Given the description of an element on the screen output the (x, y) to click on. 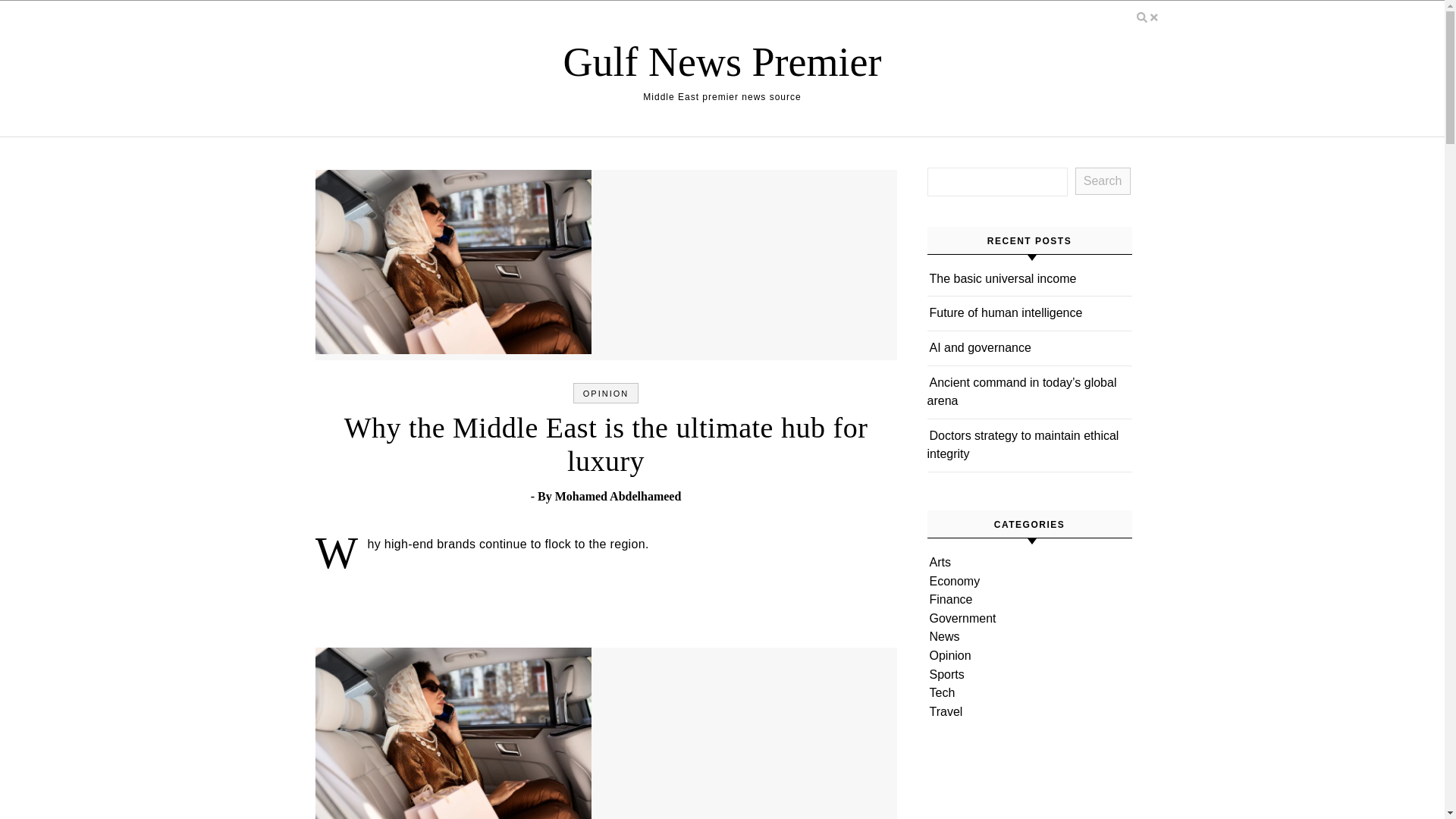
Why the Middle East is the ultimate hub for luxury 1 (453, 261)
Posts by Mohamed Abdelhameed (617, 495)
Why the Middle East is the ultimate hub for luxury (605, 443)
Mohamed Abdelhameed (617, 495)
Gulf News Premier (722, 61)
OPINION (605, 393)
